Given the description of an element on the screen output the (x, y) to click on. 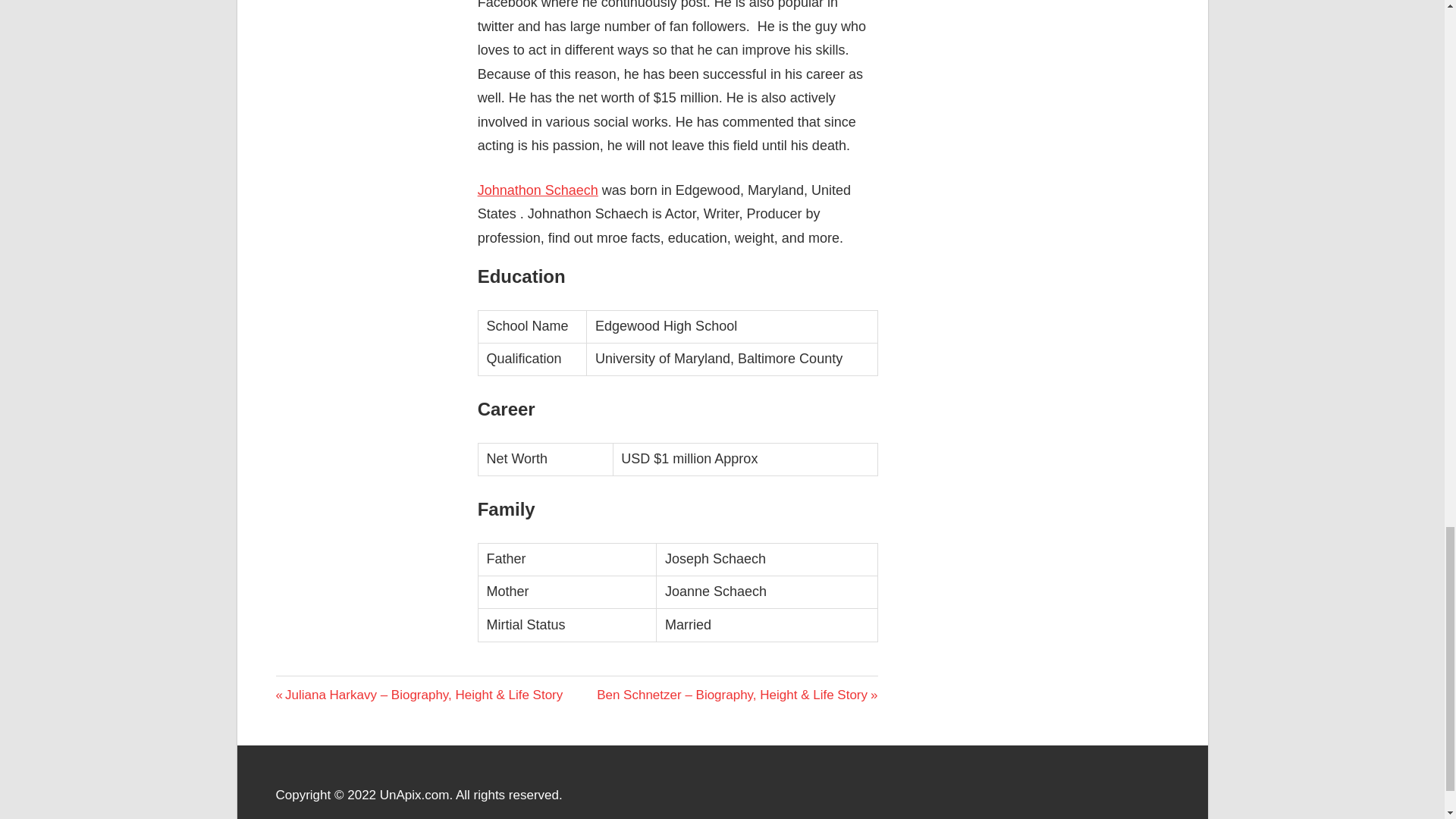
Johnathon Schaech (537, 190)
BIO (289, 685)
BIOGRAPHIES (321, 688)
